Given the description of an element on the screen output the (x, y) to click on. 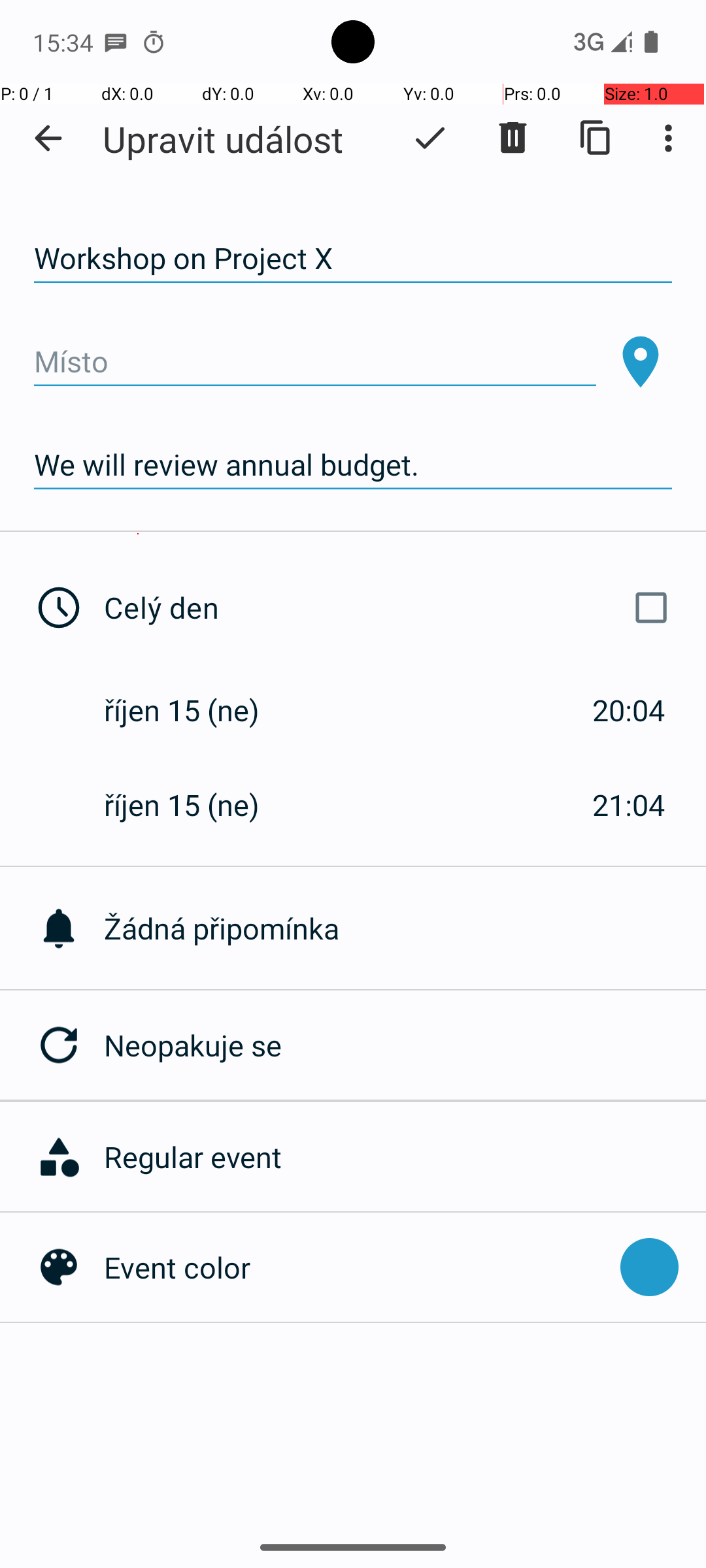
Upravit událost Element type: android.widget.TextView (222, 138)
Smazat Element type: android.widget.Button (512, 137)
Zkopírovat událost Element type: android.widget.Button (595, 137)
Místo Element type: android.widget.EditText (314, 361)
We will review annual budget. Element type: android.widget.EditText (352, 465)
říjen 15 (ne) Element type: android.widget.TextView (194, 709)
20:04 Element type: android.widget.TextView (628, 709)
21:04 Element type: android.widget.TextView (628, 804)
Žádná připomínka Element type: android.widget.TextView (404, 927)
Neopakuje se Element type: android.widget.TextView (404, 1044)
Celý den Element type: android.widget.CheckBox (390, 607)
